Given the description of an element on the screen output the (x, y) to click on. 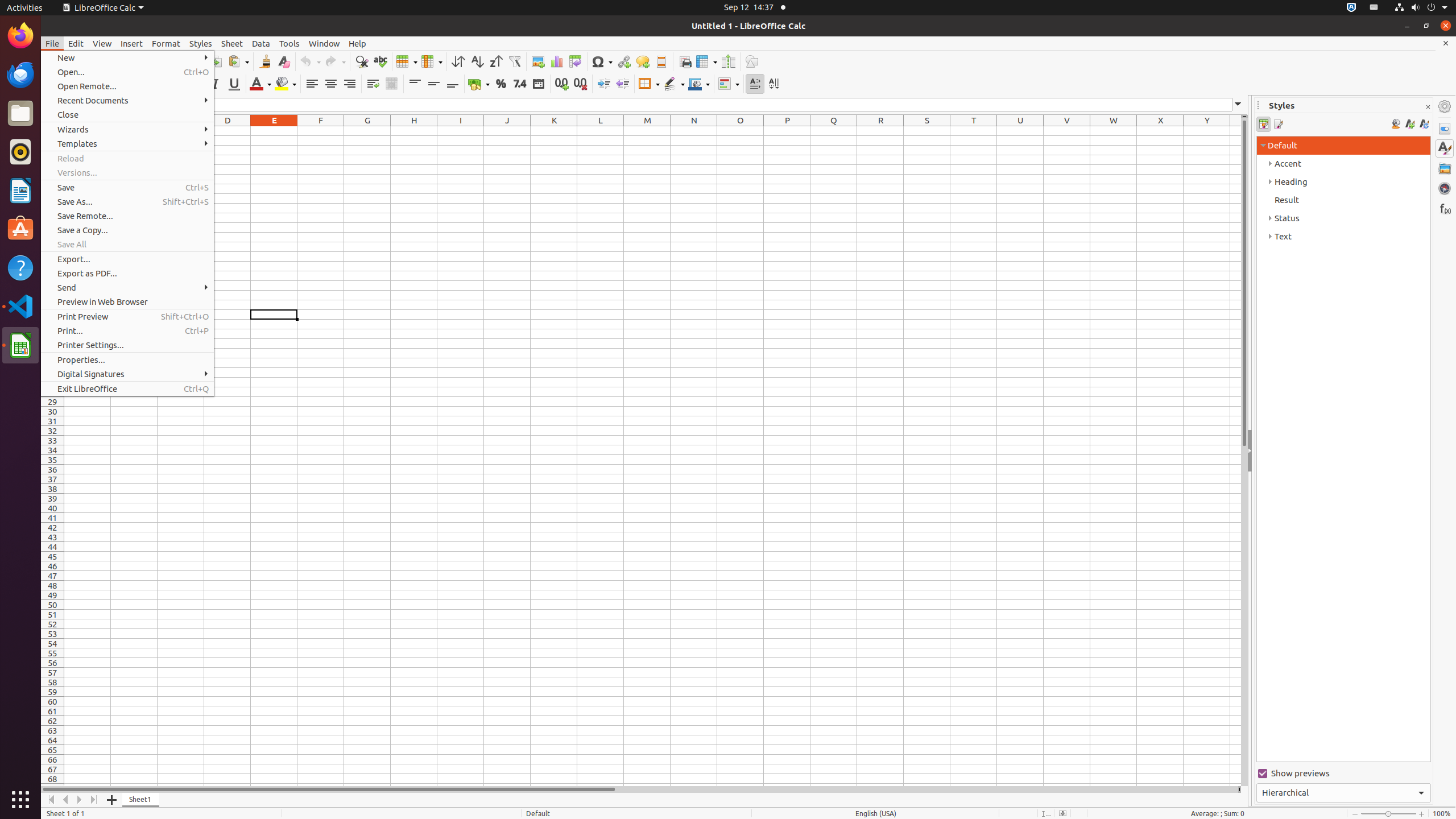
Undo Element type: push-button (309, 61)
Split Window Element type: push-button (727, 61)
Properties... Element type: menu-item (126, 359)
P1 Element type: table-cell (786, 130)
V1 Element type: table-cell (1066, 130)
